Given the description of an element on the screen output the (x, y) to click on. 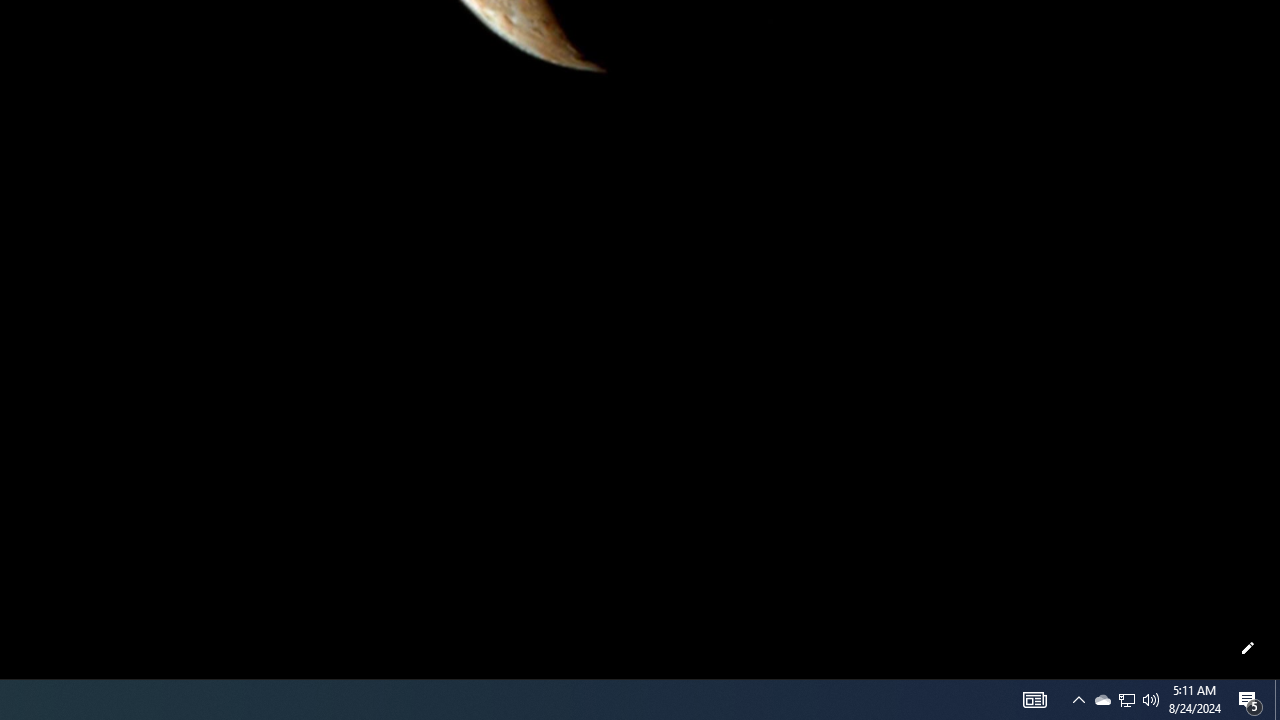
Customize this page (1247, 647)
